Given the description of an element on the screen output the (x, y) to click on. 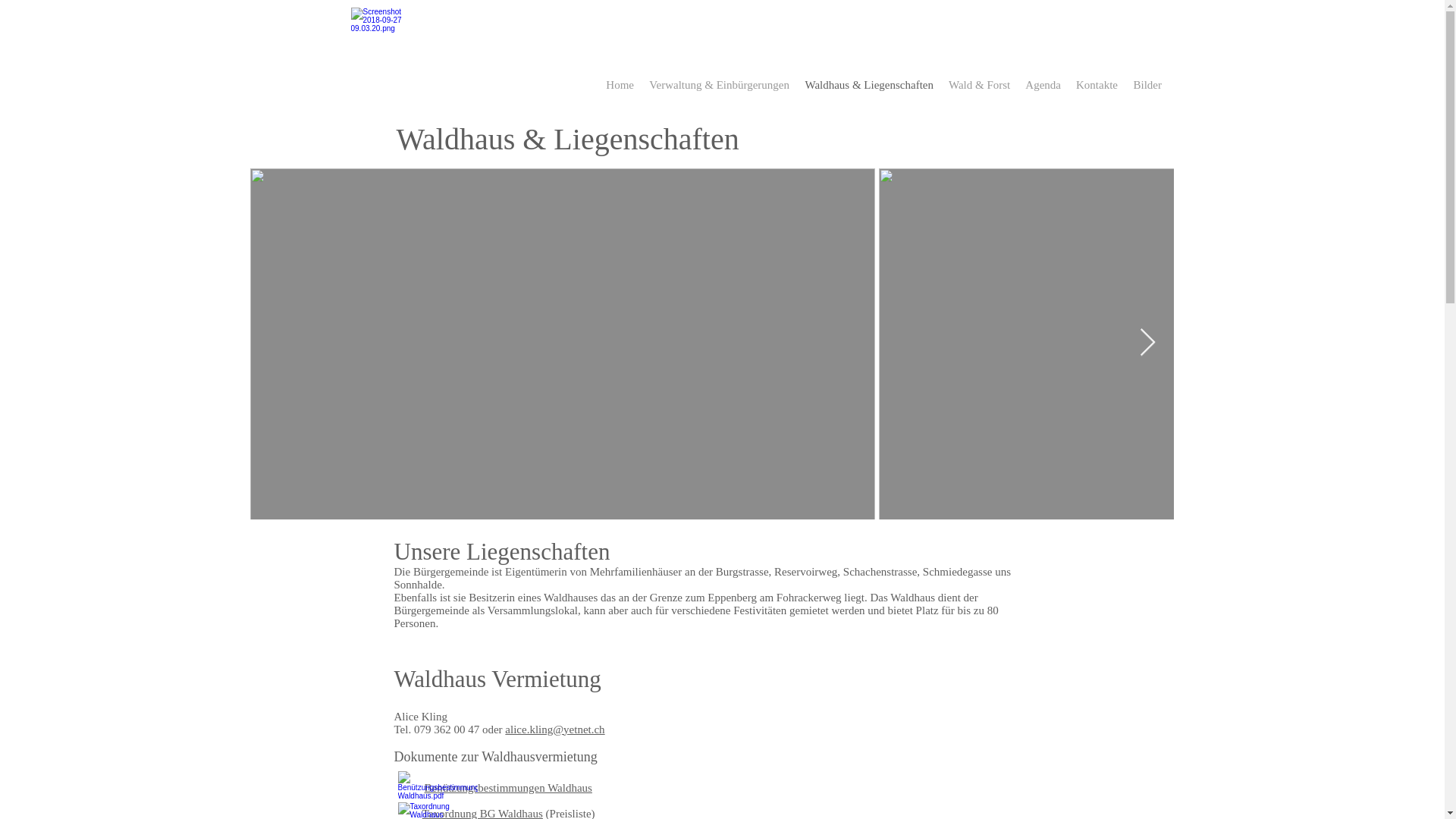
Waldhaus & Liegenschaften Element type: text (869, 85)
Agenda Element type: text (1042, 85)
Home Element type: text (619, 85)
Kontakte Element type: text (1096, 85)
Wald & Forst Element type: text (979, 85)
Tel. 079 362 00 47 Element type: text (437, 729)
alice.kling@yetnet.ch Element type: text (554, 729)
Bilder Element type: text (1147, 85)
